Given the description of an element on the screen output the (x, y) to click on. 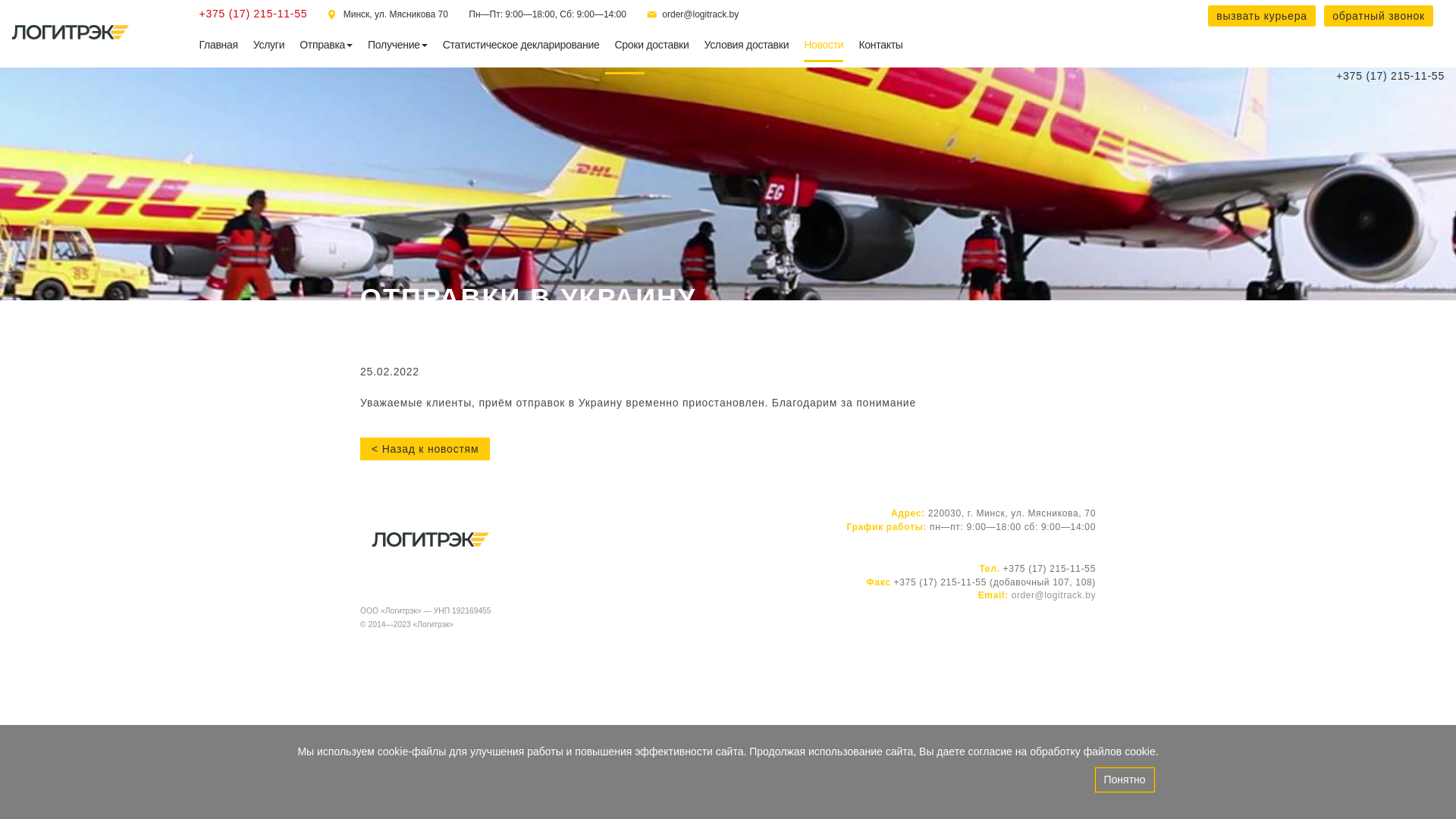
order@logitrack.by Element type: text (1053, 594)
+375 (17) 215-11-55 Element type: text (252, 13)
+375 (17) 215-11-55 Element type: text (1390, 75)
